Given the description of an element on the screen output the (x, y) to click on. 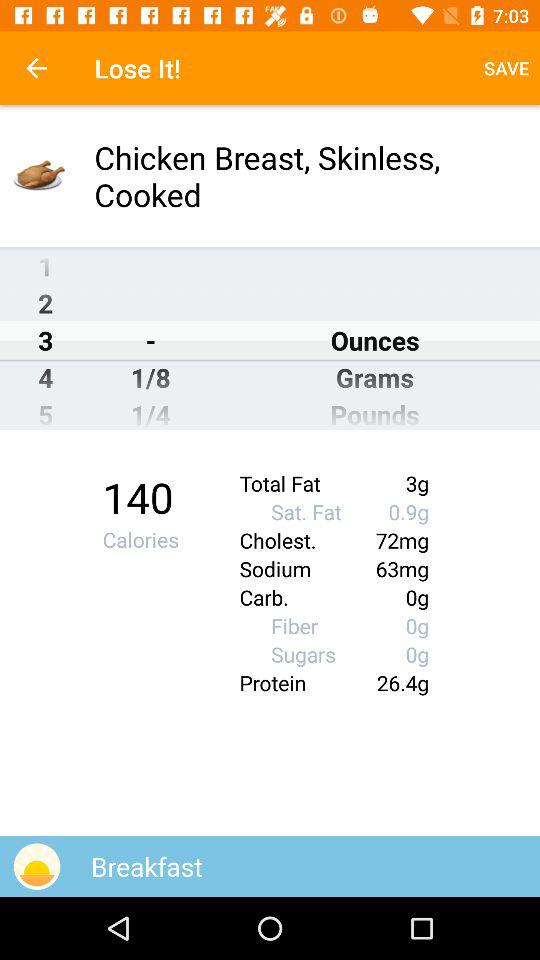
press item next to the lose it! icon (506, 67)
